Given the description of an element on the screen output the (x, y) to click on. 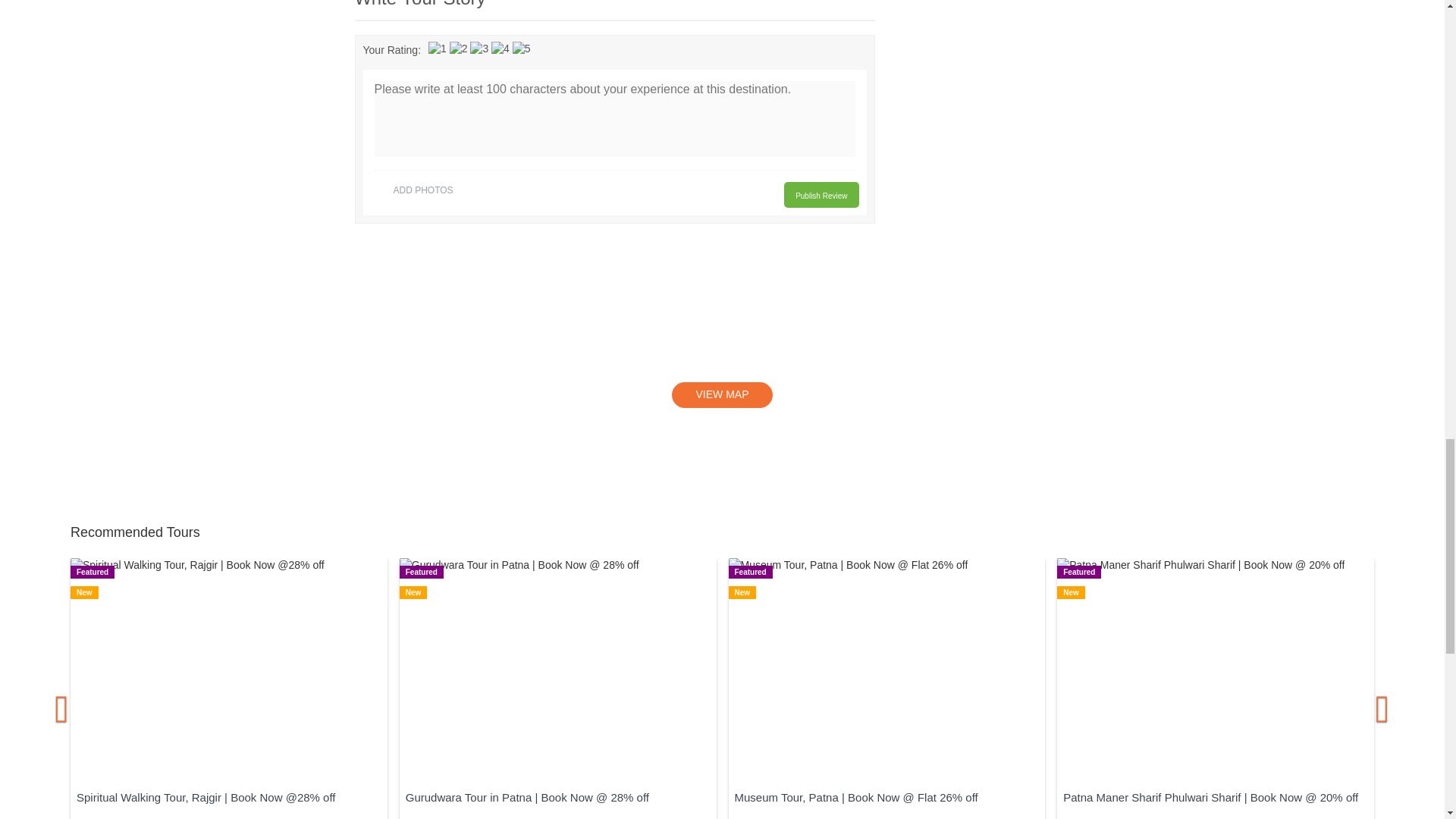
gorgeous (521, 48)
good (500, 48)
Publish Review (821, 194)
regular (478, 48)
poor (458, 48)
bad (437, 48)
